Given the description of an element on the screen output the (x, y) to click on. 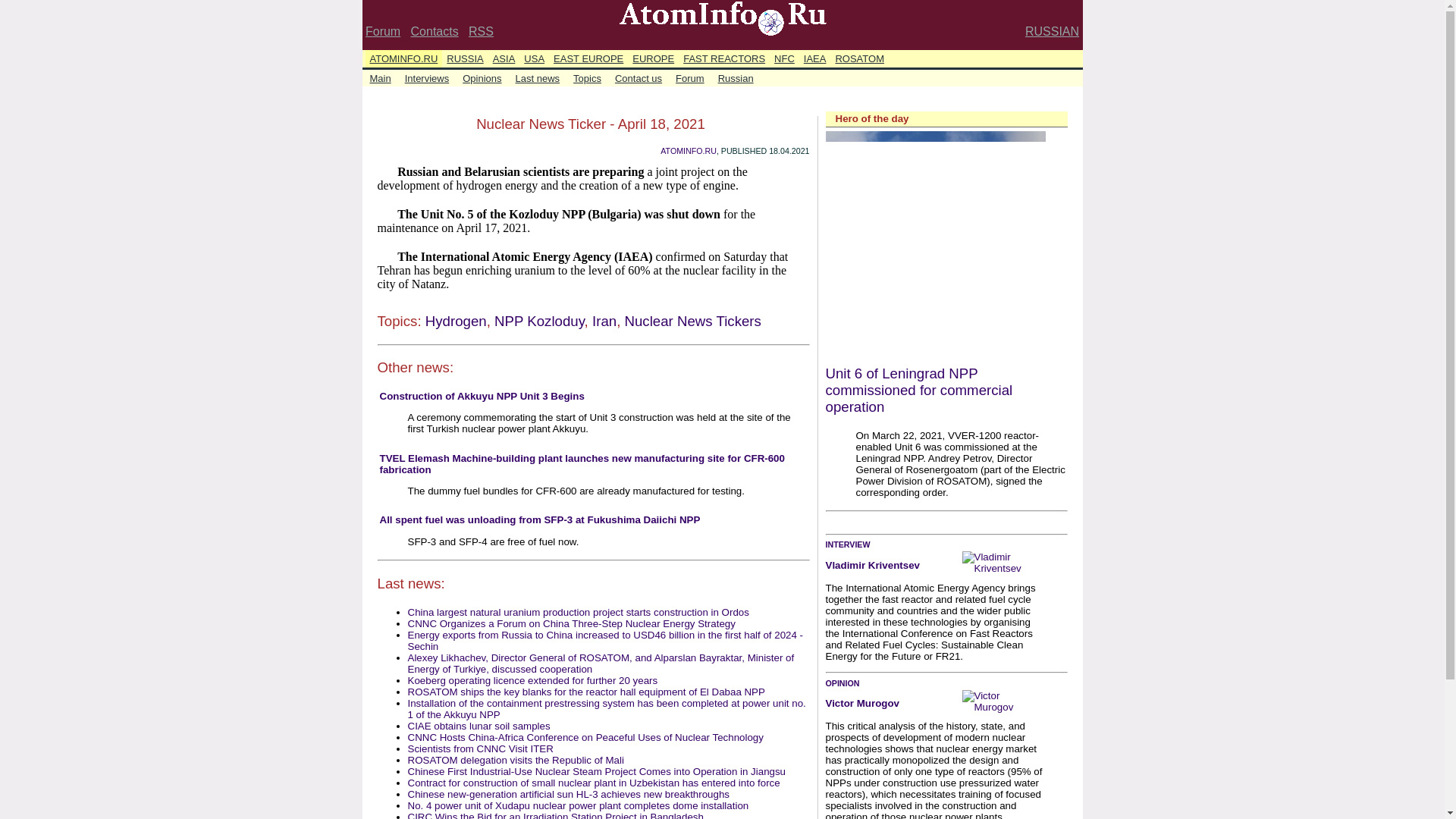
EAST EUROPE (587, 58)
RSS (480, 31)
USA (533, 58)
ASIA (503, 58)
CIAE obtains lunar soil samples (478, 726)
Contacts (434, 31)
ATOMINFO.RU (688, 150)
Topics (587, 77)
Construction of Akkuyu NPP Unit 3 Begins (480, 396)
RUSSIA (464, 58)
RUSSIAN (1051, 31)
Iran (603, 320)
